Given the description of an element on the screen output the (x, y) to click on. 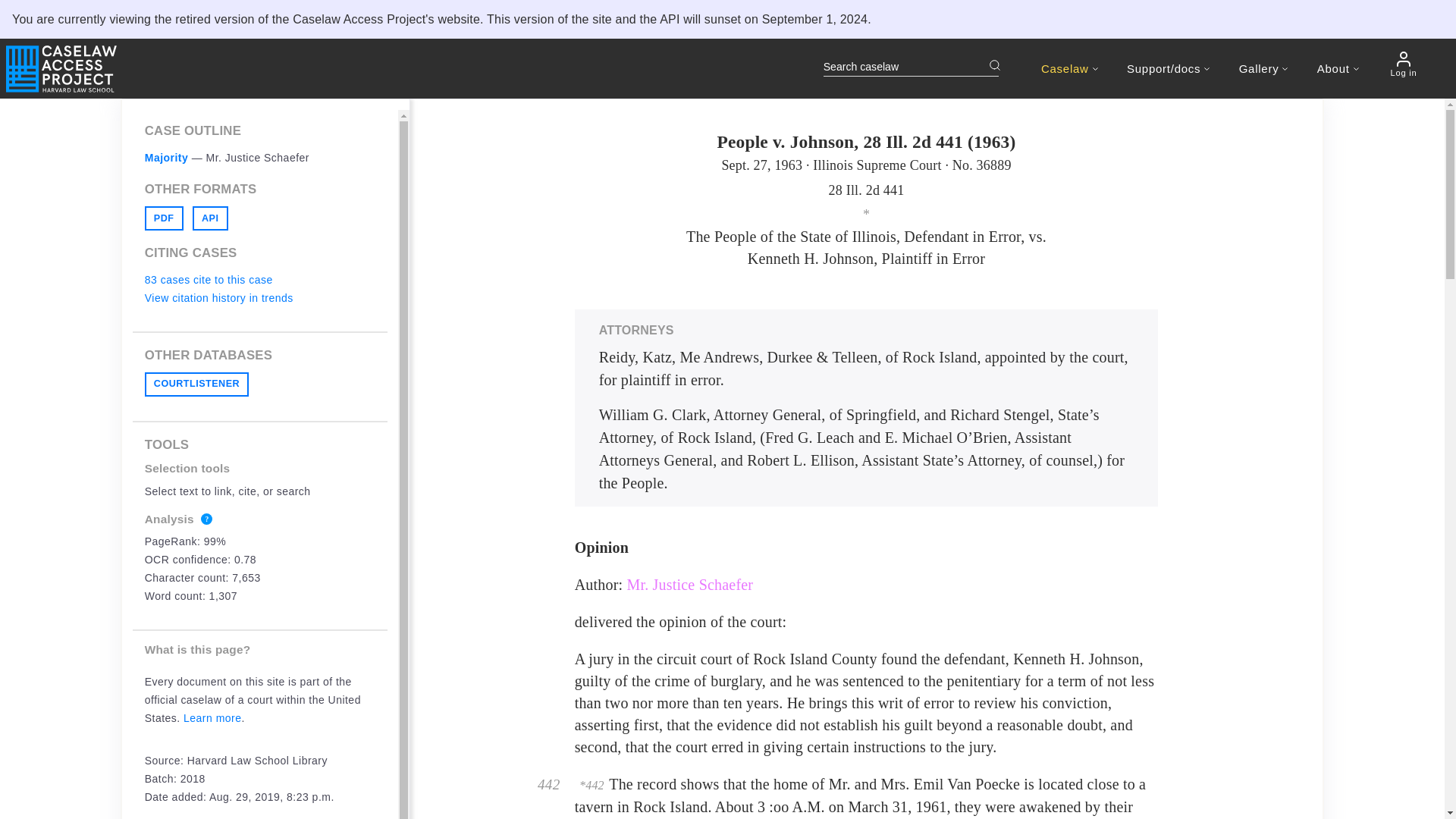
Gallery (1263, 68)
83 cases cite to this case (208, 279)
Majority (166, 157)
View citation history in trends (219, 297)
About (1338, 68)
PDF (163, 218)
API (210, 218)
Learn more (212, 717)
COURTLISTENER (196, 384)
Log in (1403, 64)
